Given the description of an element on the screen output the (x, y) to click on. 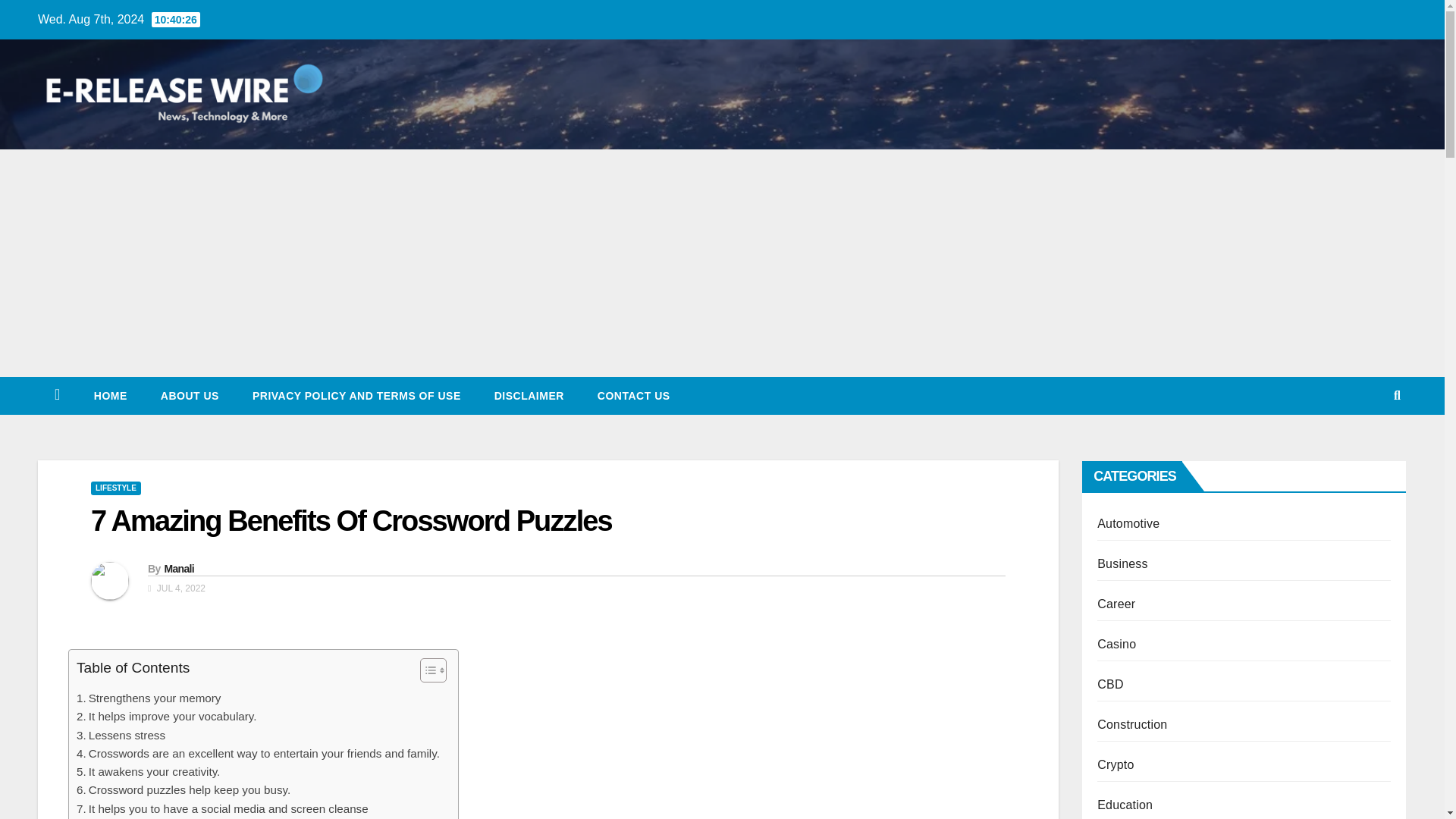
About Us (189, 395)
LIFESTYLE (115, 488)
Lessens stress  (122, 735)
ABOUT US (189, 395)
PRIVACY POLICY AND TERMS OF USE (356, 395)
It helps you to have a social media and screen cleanse  (224, 809)
Contact Us (633, 395)
